Given the description of an element on the screen output the (x, y) to click on. 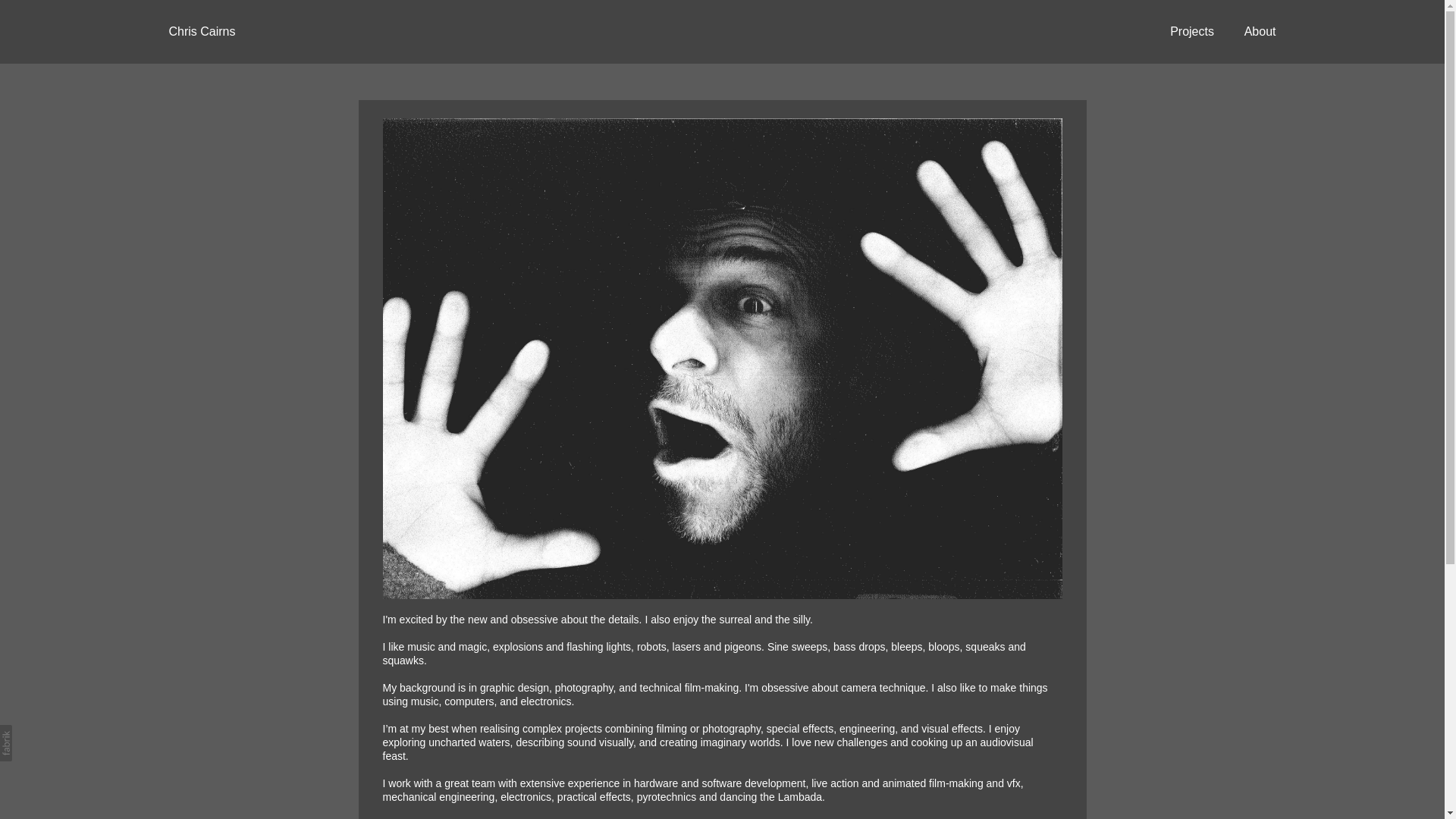
About (1260, 31)
Projects (1192, 31)
Chris Cairns (201, 31)
